Given the description of an element on the screen output the (x, y) to click on. 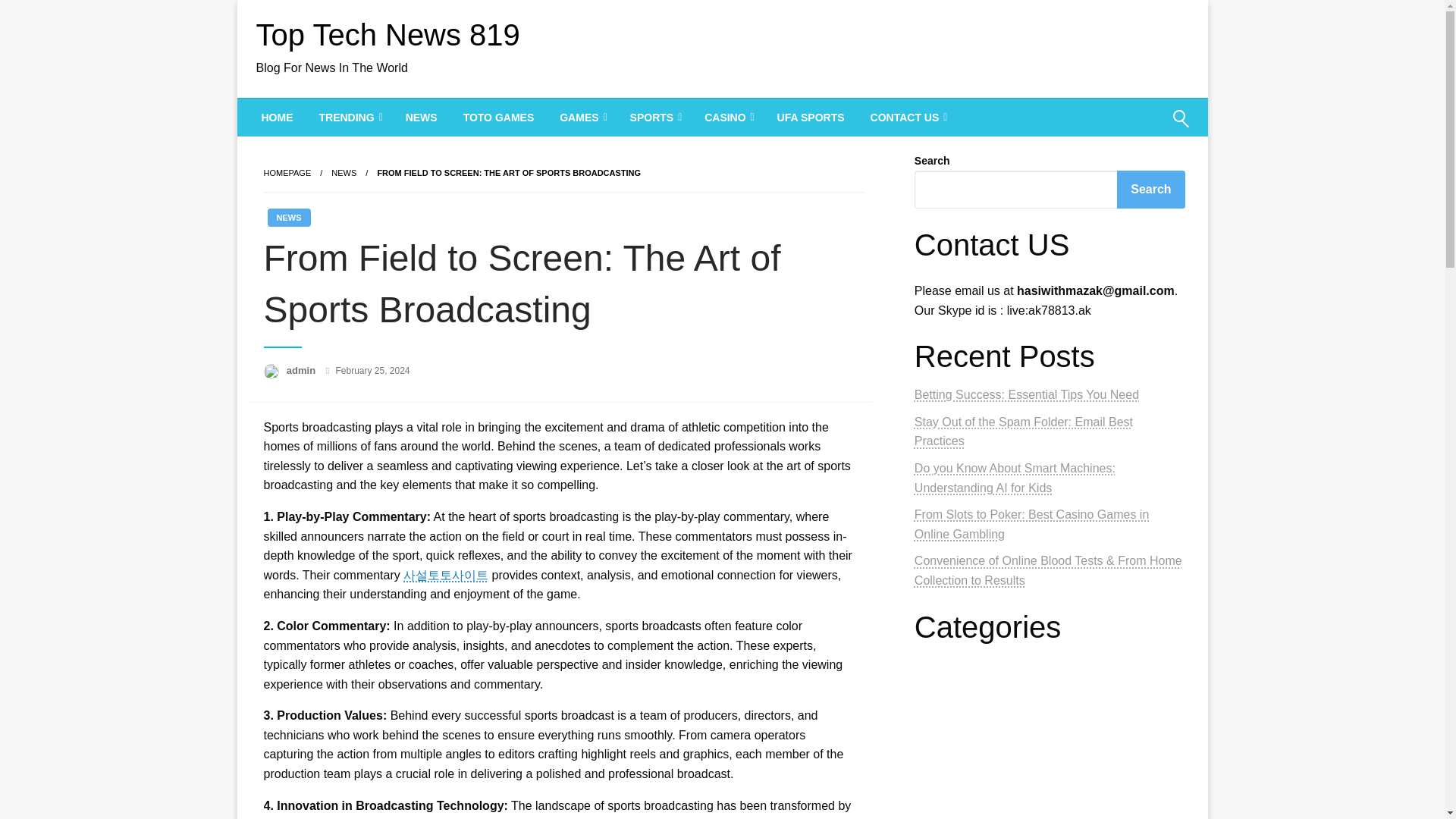
HOMEPAGE (287, 172)
From Field to Screen: The Art of Sports Broadcasting (508, 172)
NEWS (343, 172)
Top Tech News 819 (387, 34)
CONTACT US (907, 117)
TRENDING (349, 117)
GAMES (581, 117)
NEWS (288, 217)
SPORTS (655, 117)
News (343, 172)
admin (302, 369)
Homepage (287, 172)
admin (302, 369)
TOTO GAMES (498, 117)
UFA SPORTS (810, 117)
